Given the description of an element on the screen output the (x, y) to click on. 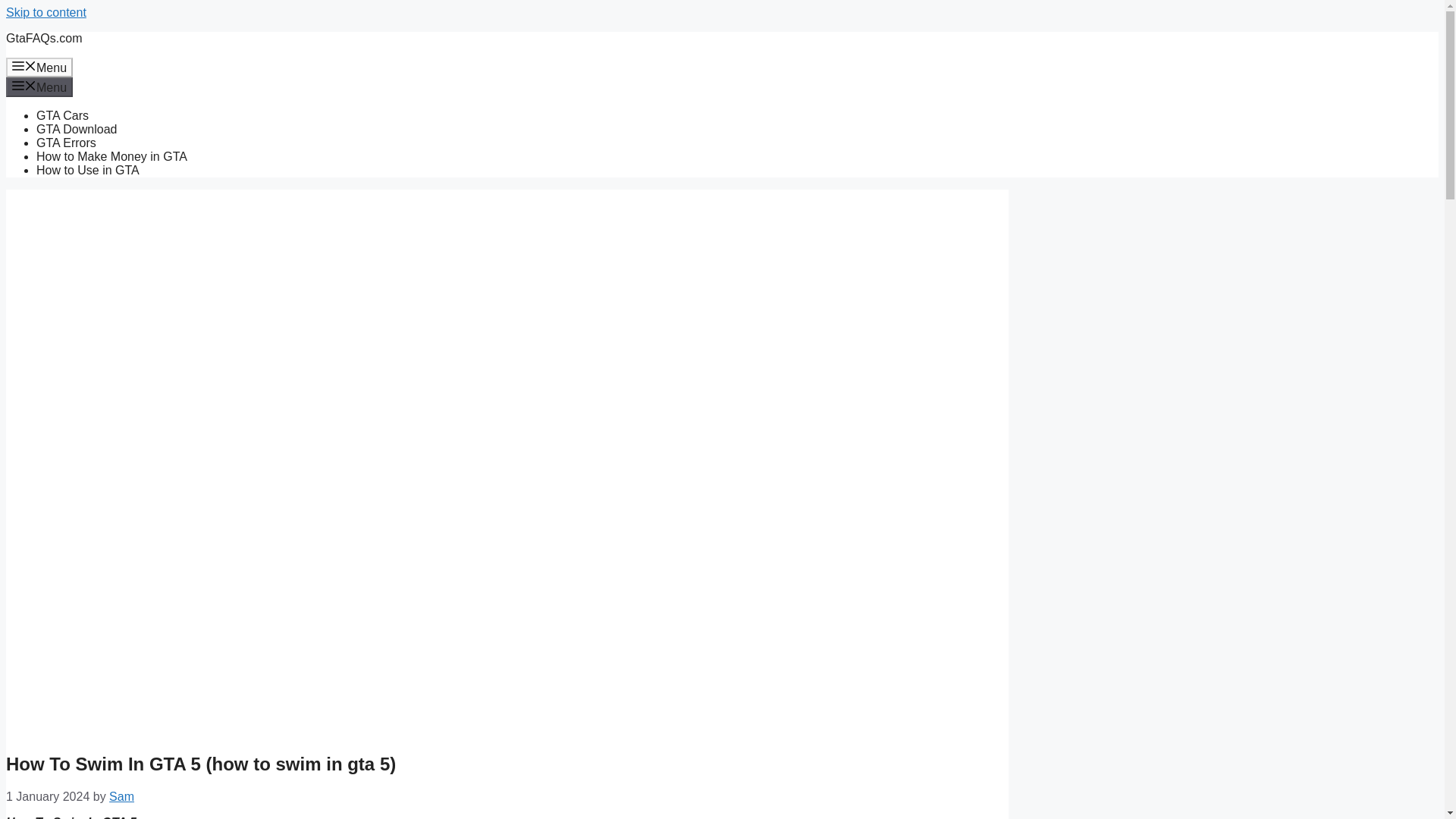
GTA Errors (66, 142)
View all posts by Sam (121, 796)
How to Use in GTA (87, 169)
Skip to content (45, 11)
Sam (121, 796)
GTA Download (76, 128)
Skip to content (45, 11)
Menu (38, 86)
GTA Cars (62, 115)
How to Make Money in GTA (111, 155)
